Given the description of an element on the screen output the (x, y) to click on. 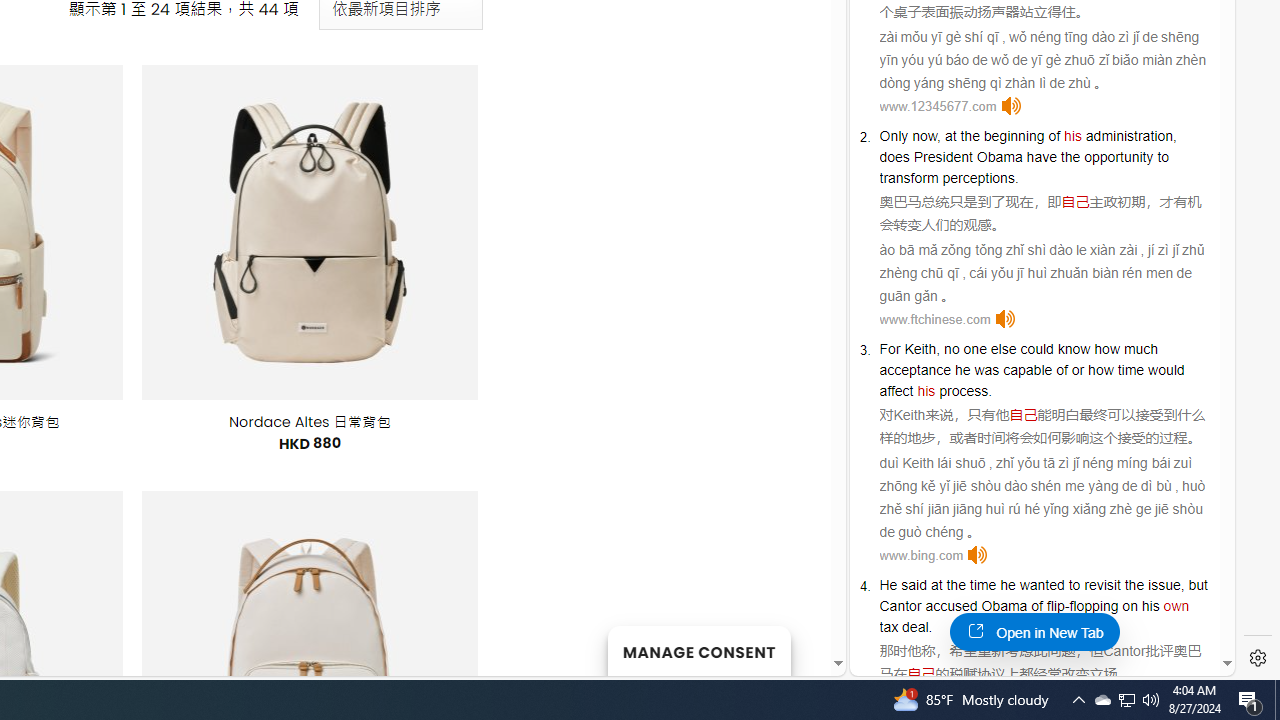
www.ftchinese.com (934, 318)
www.bing.com (921, 555)
was (986, 370)
own (1176, 606)
capable (1028, 370)
